Given the description of an element on the screen output the (x, y) to click on. 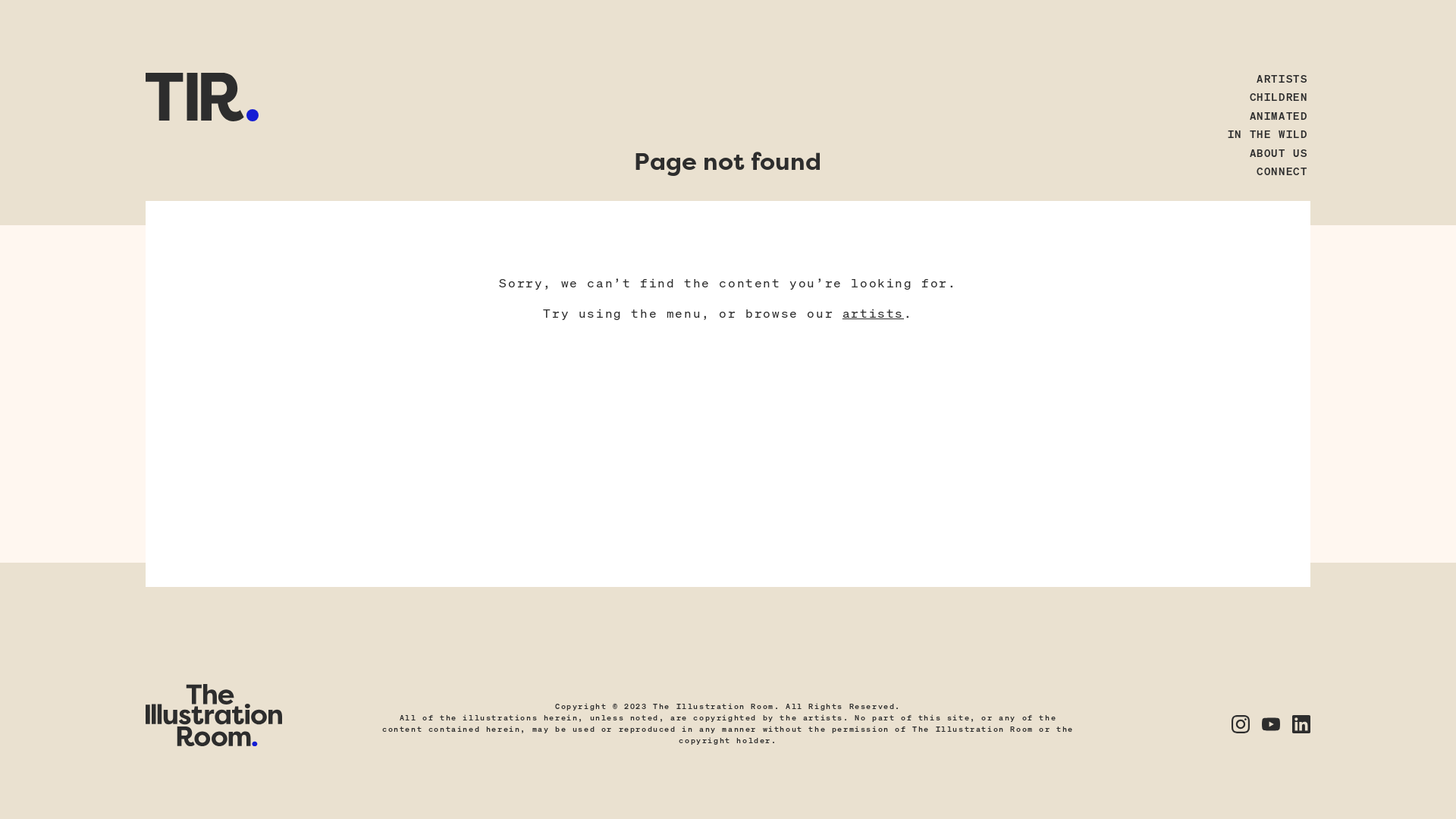
ARTISTS Element type: text (1276, 77)
artists Element type: text (872, 312)
ABOUT US Element type: text (1273, 152)
Follow us on LinkedIn Element type: text (1301, 724)
Follow us on Instagram Element type: text (1240, 724)
CHILDREN Element type: text (1273, 96)
CONNECT Element type: text (1276, 171)
ANIMATED Element type: text (1273, 114)
Like and subscribe on YouTube Element type: text (1270, 724)
IN THE WILD Element type: text (1262, 133)
